Given the description of an element on the screen output the (x, y) to click on. 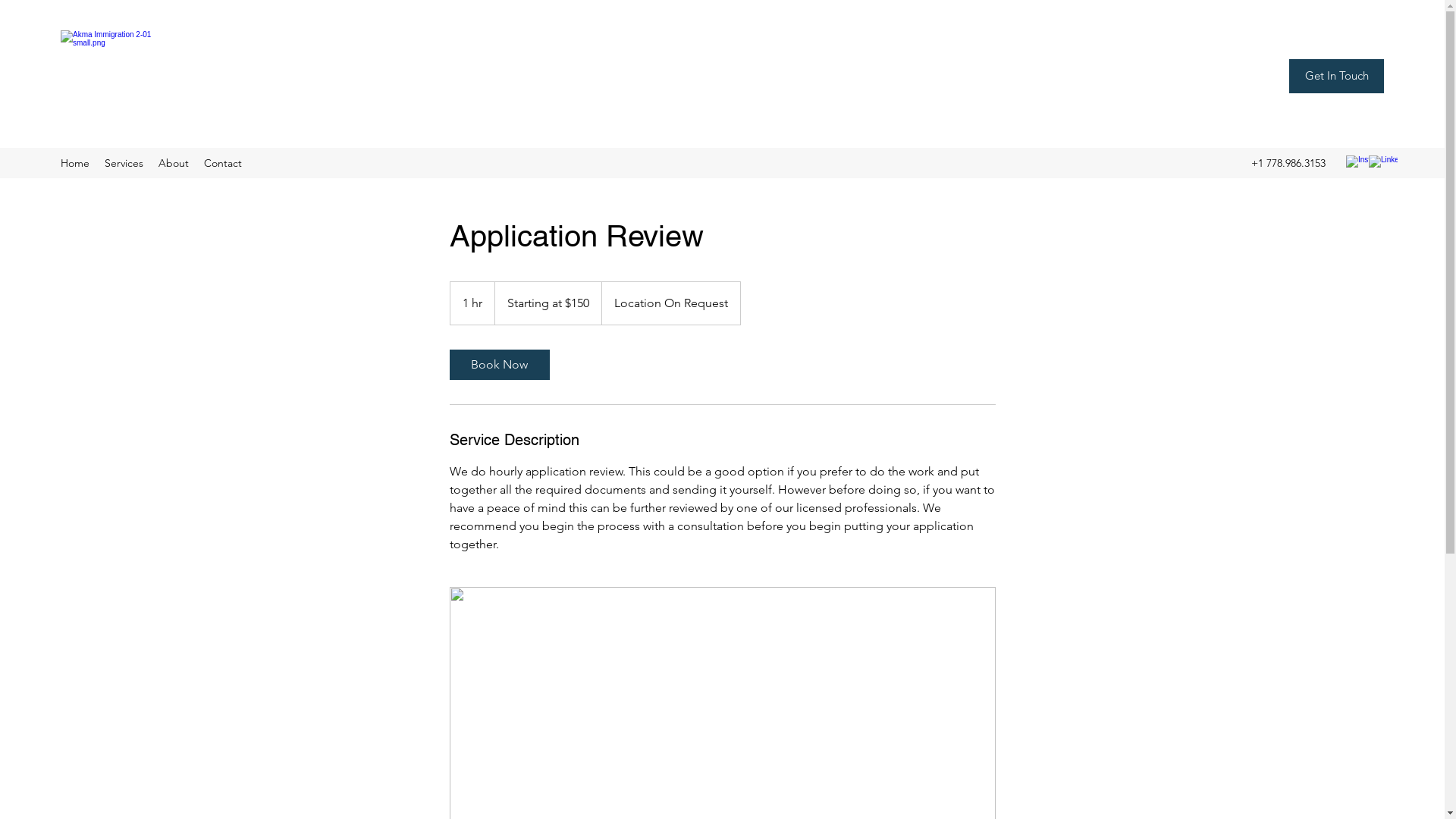
Services Element type: text (123, 162)
Contact Element type: text (222, 162)
Home Element type: text (75, 162)
About Element type: text (173, 162)
Book Now Element type: text (498, 364)
